Given the description of an element on the screen output the (x, y) to click on. 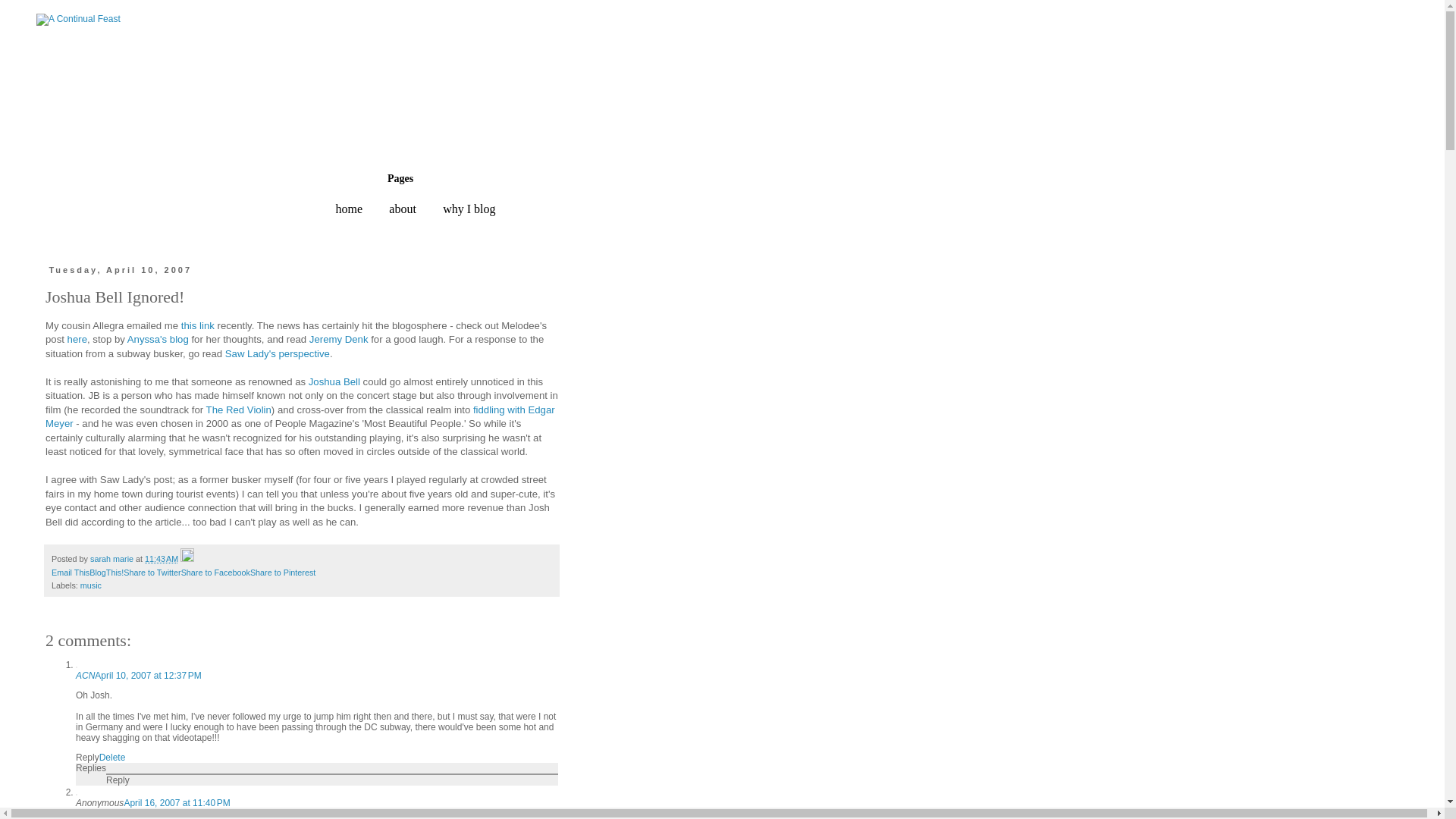
Jeremy Denk (338, 338)
this link (197, 325)
home (348, 208)
Edit Post (186, 558)
Share to Twitter (151, 572)
Email This (69, 572)
Share to Twitter (151, 572)
why I blog (468, 208)
Email This (69, 572)
music (90, 584)
Share to Pinterest (282, 572)
Joshua Bell (333, 381)
Delete (112, 757)
